Given the description of an element on the screen output the (x, y) to click on. 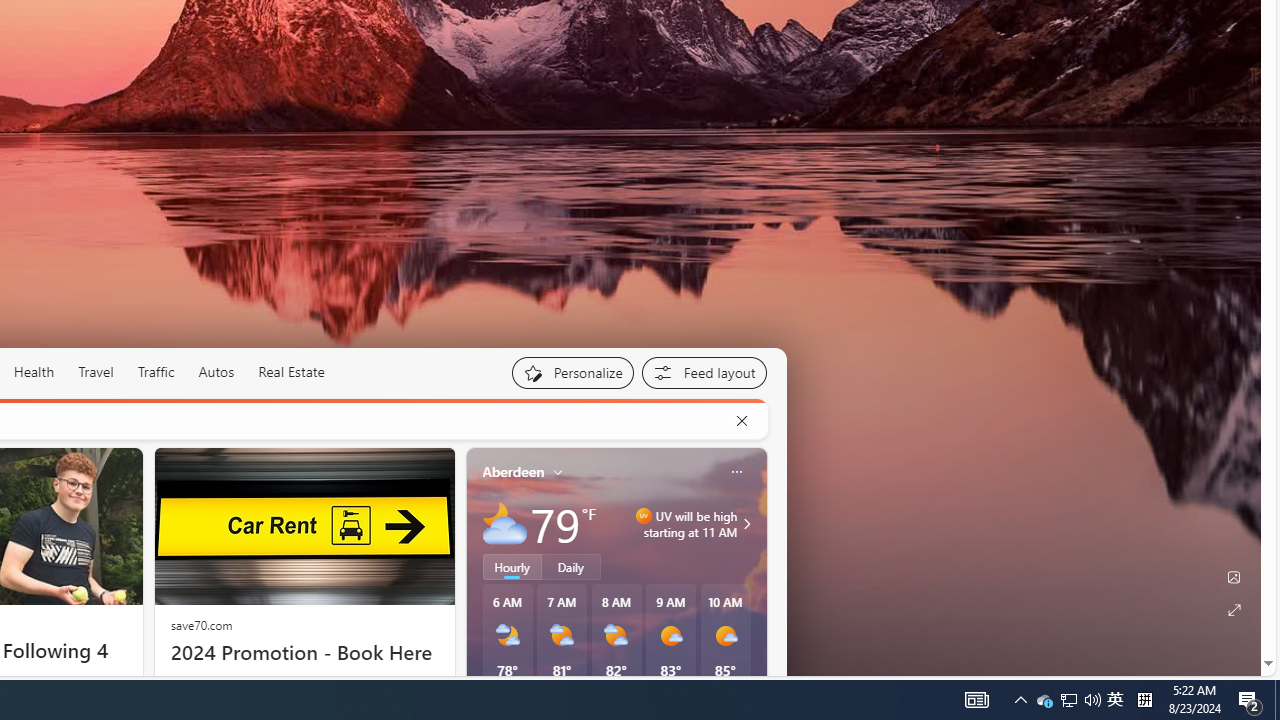
UV will be high starting at 11 AM (744, 523)
My location (558, 471)
save70.com (201, 624)
Real Estate (291, 371)
Traffic (155, 371)
Edit Background (1233, 577)
Class: weather-arrow-glyph (746, 523)
